Given the description of an element on the screen output the (x, y) to click on. 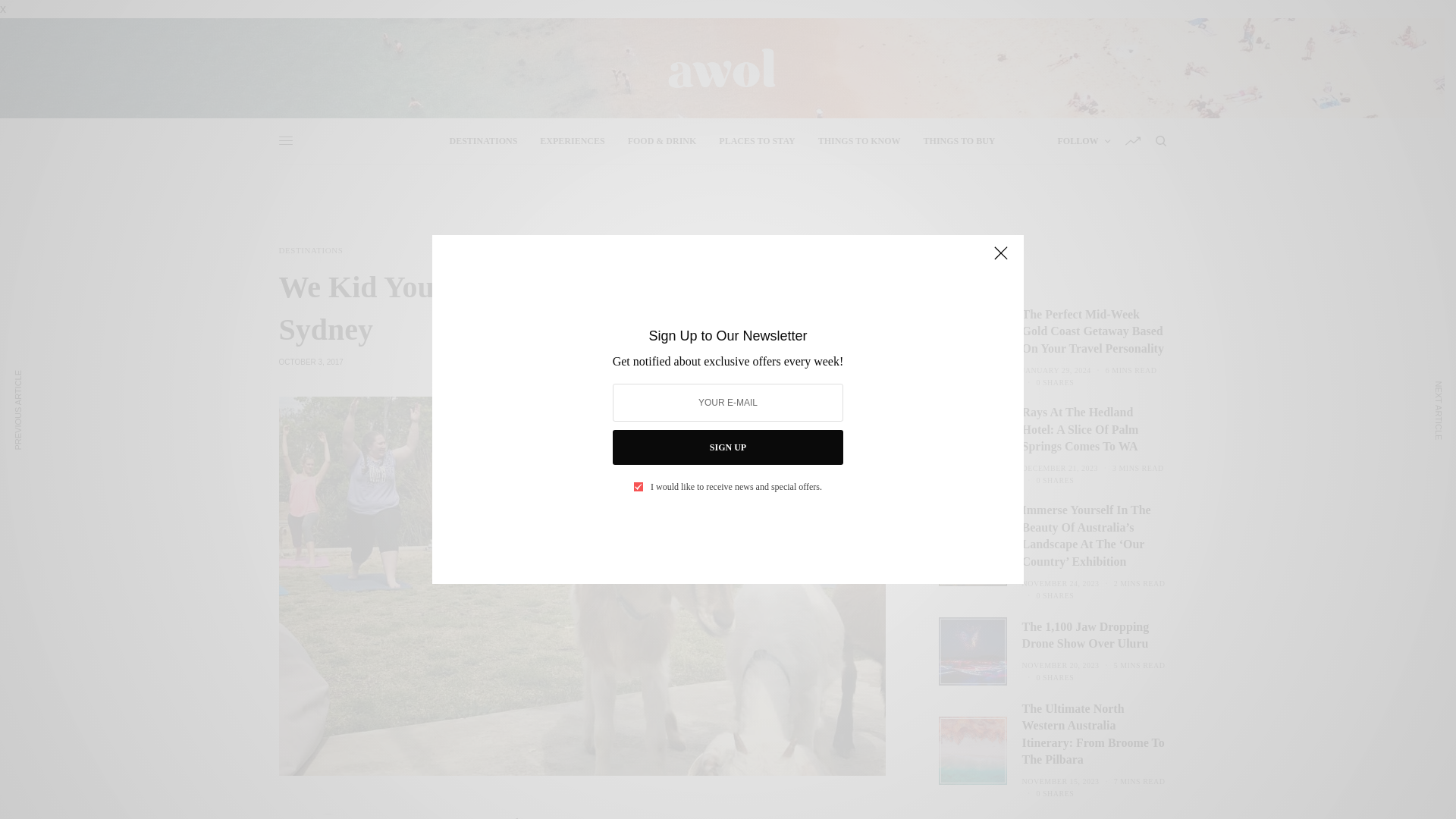
THINGS TO BUY (959, 140)
AWOL (721, 67)
EXPERIENCES (572, 140)
FOLLOW (1083, 140)
DESTINATIONS (483, 140)
SIGN UP (728, 447)
PLACES TO STAY (756, 140)
THINGS TO KNOW (859, 140)
The 1,100 Jaw Dropping Drone Show Over Uluru (1094, 635)
DESTINATIONS (311, 250)
